Given the description of an element on the screen output the (x, y) to click on. 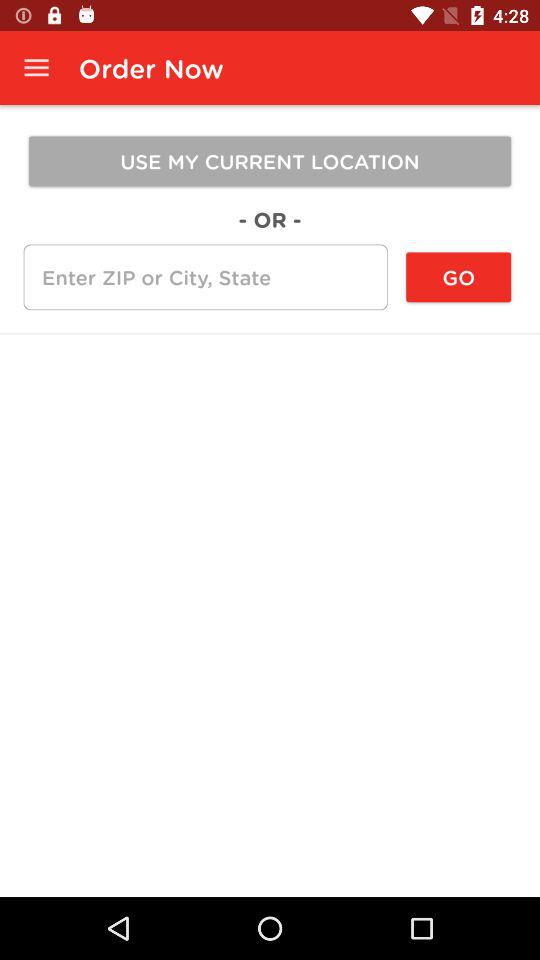
click item to the left of the go (205, 277)
